Given the description of an element on the screen output the (x, y) to click on. 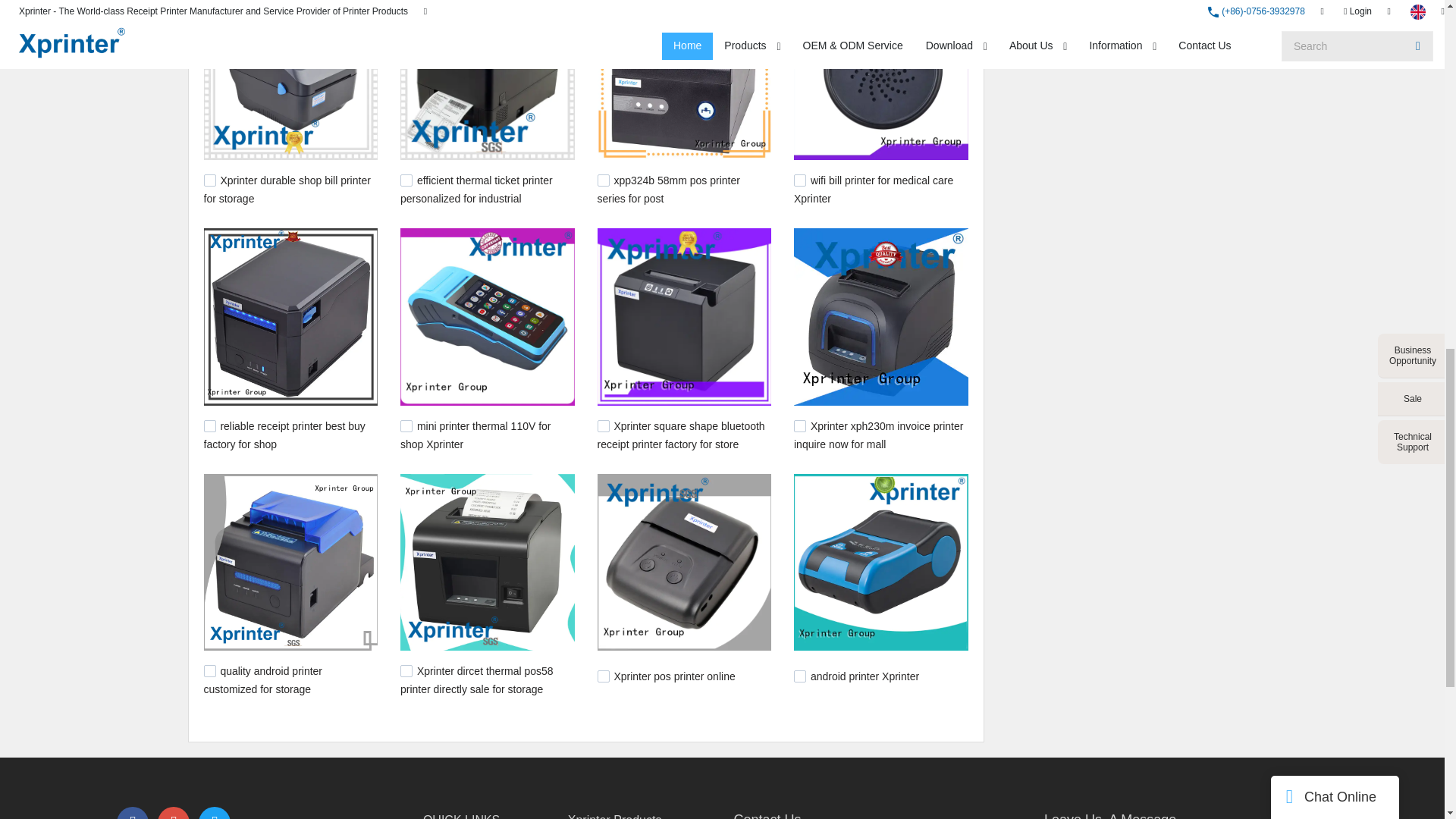
1289 (209, 671)
1280 (406, 671)
1616 (209, 180)
1318 (603, 426)
930 (799, 676)
xpp324b 58mm pos printer series for post (667, 189)
1428 (209, 426)
1460 (799, 180)
reliable receipt printer best buy factory for shop (284, 435)
1539 (406, 180)
1294 (799, 426)
928 (603, 676)
1324 (406, 426)
